Given the description of an element on the screen output the (x, y) to click on. 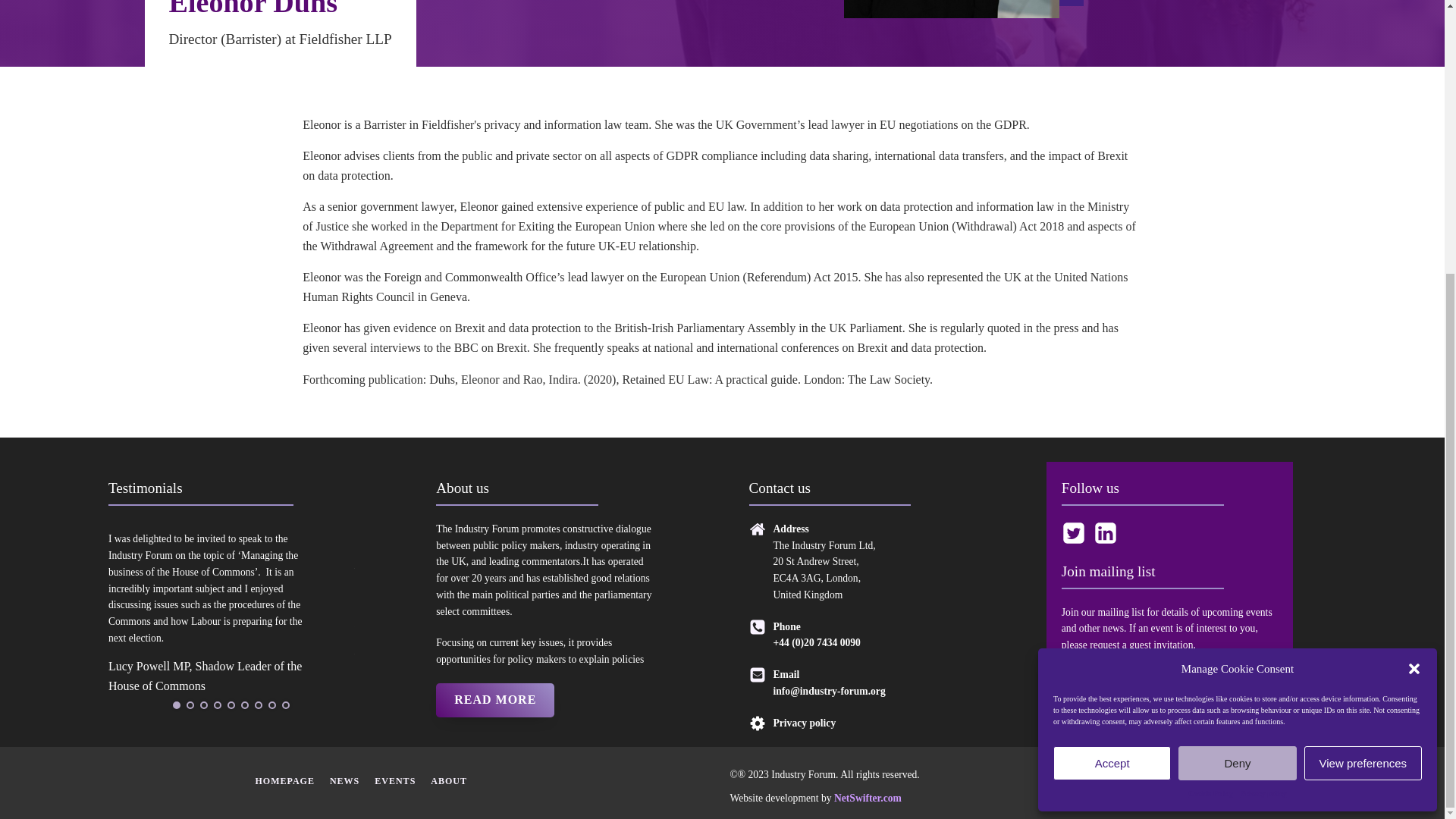
View preferences (1363, 360)
Cookie Policy (1210, 391)
Privacy policy (1263, 391)
Deny (1236, 360)
Accept (1111, 360)
